Given the description of an element on the screen output the (x, y) to click on. 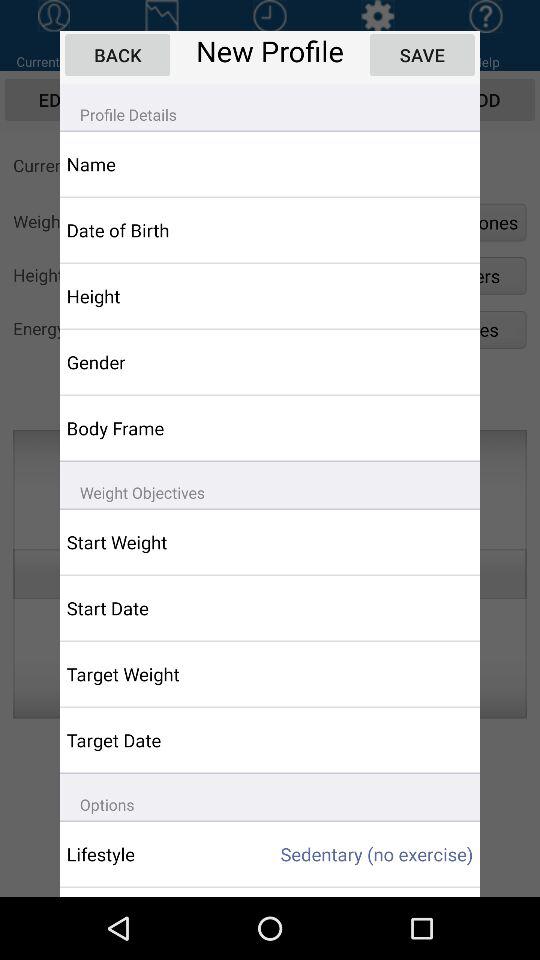
scroll until profile details icon (270, 106)
